Given the description of an element on the screen output the (x, y) to click on. 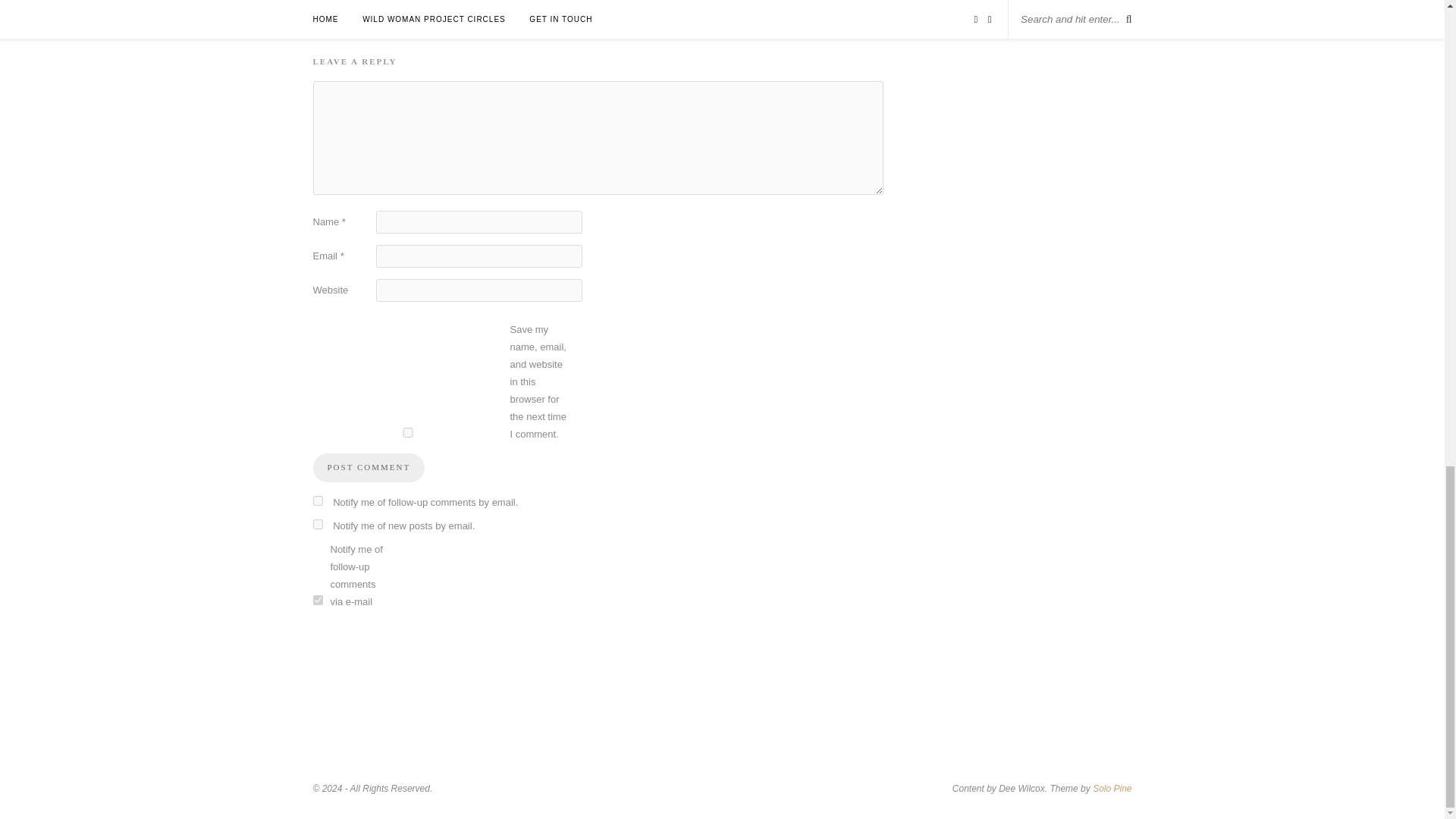
Post Comment (369, 467)
subscribe (317, 524)
Post Comment (369, 467)
yes (407, 432)
subscribe (317, 501)
